Given the description of an element on the screen output the (x, y) to click on. 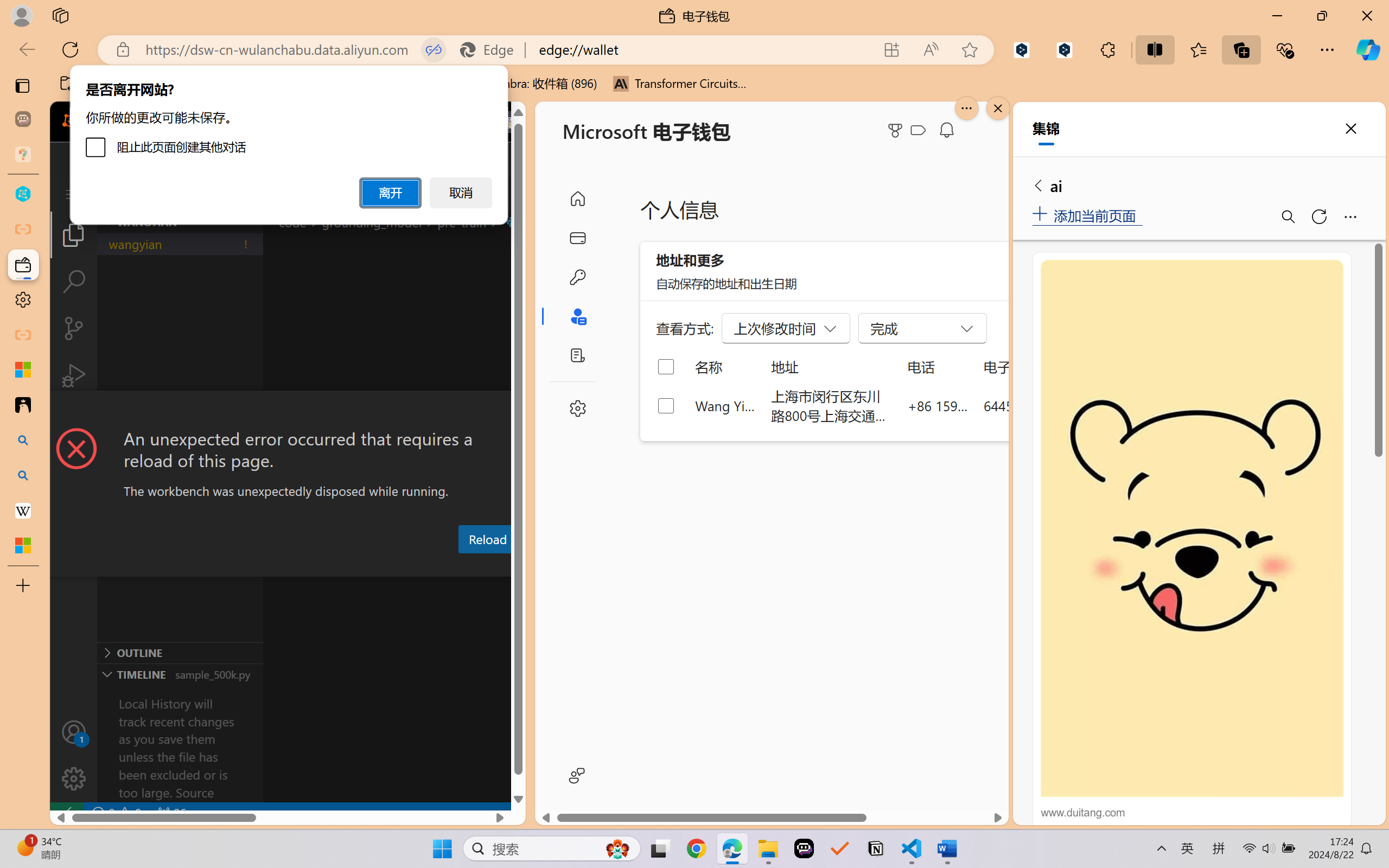
Manage (73, 755)
Accounts - Sign in requested (73, 732)
Terminal (Ctrl+`) (553, 565)
